Given the description of an element on the screen output the (x, y) to click on. 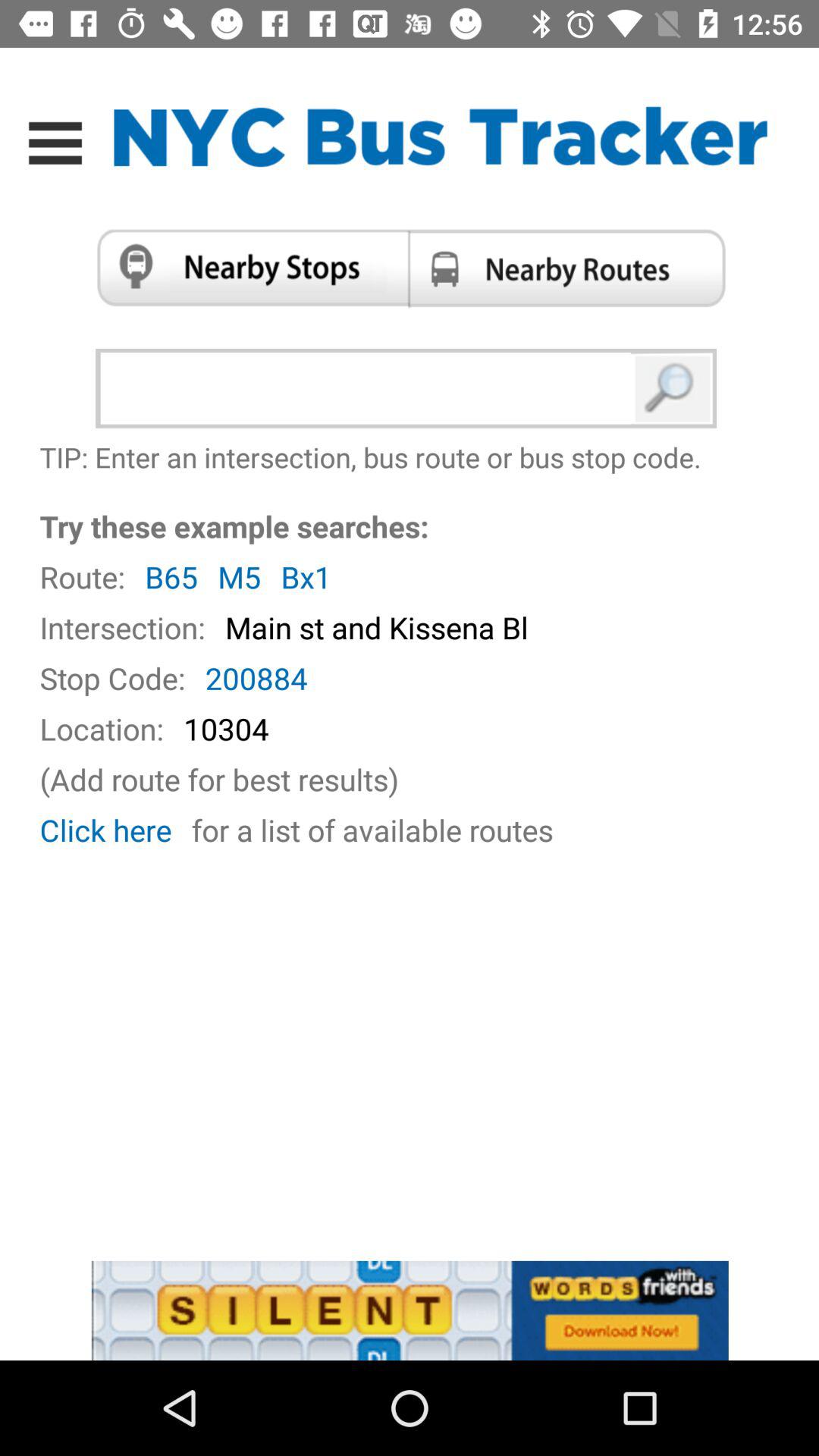
search stops (246, 267)
